Given the description of an element on the screen output the (x, y) to click on. 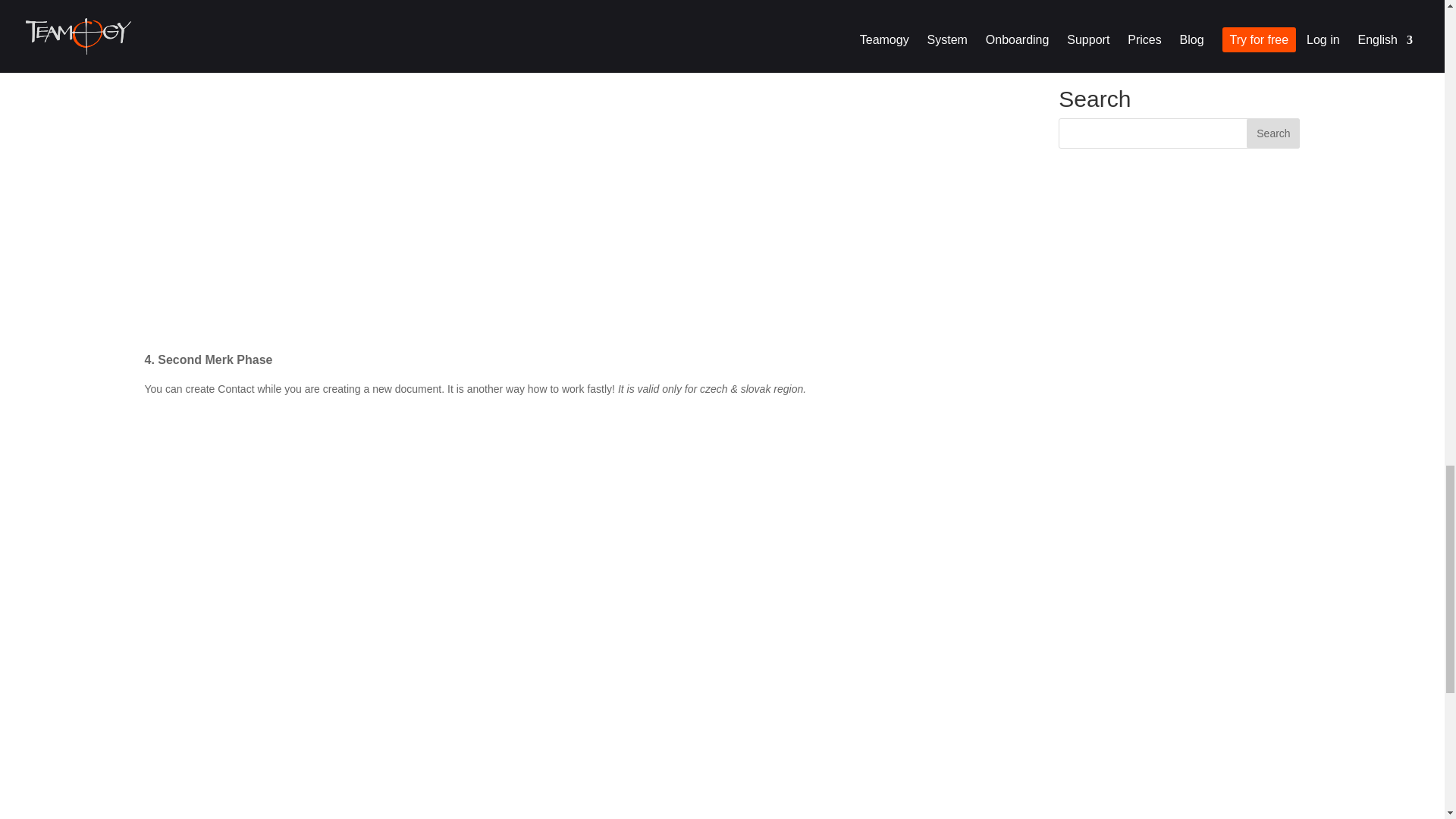
Search (1273, 132)
